Given the description of an element on the screen output the (x, y) to click on. 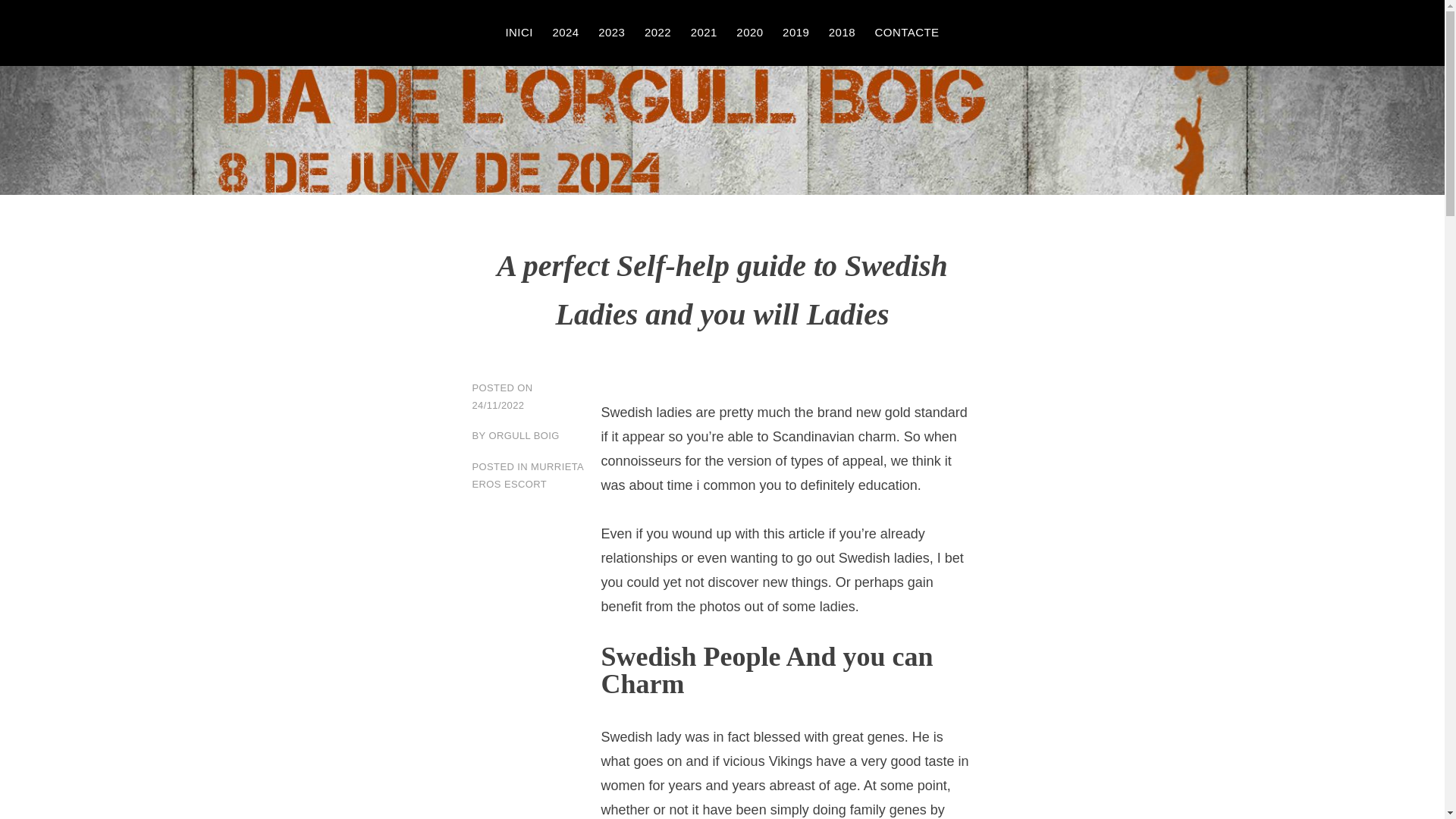
ORGULL BOIG (126, 156)
CONTACTE (907, 32)
